Given the description of an element on the screen output the (x, y) to click on. 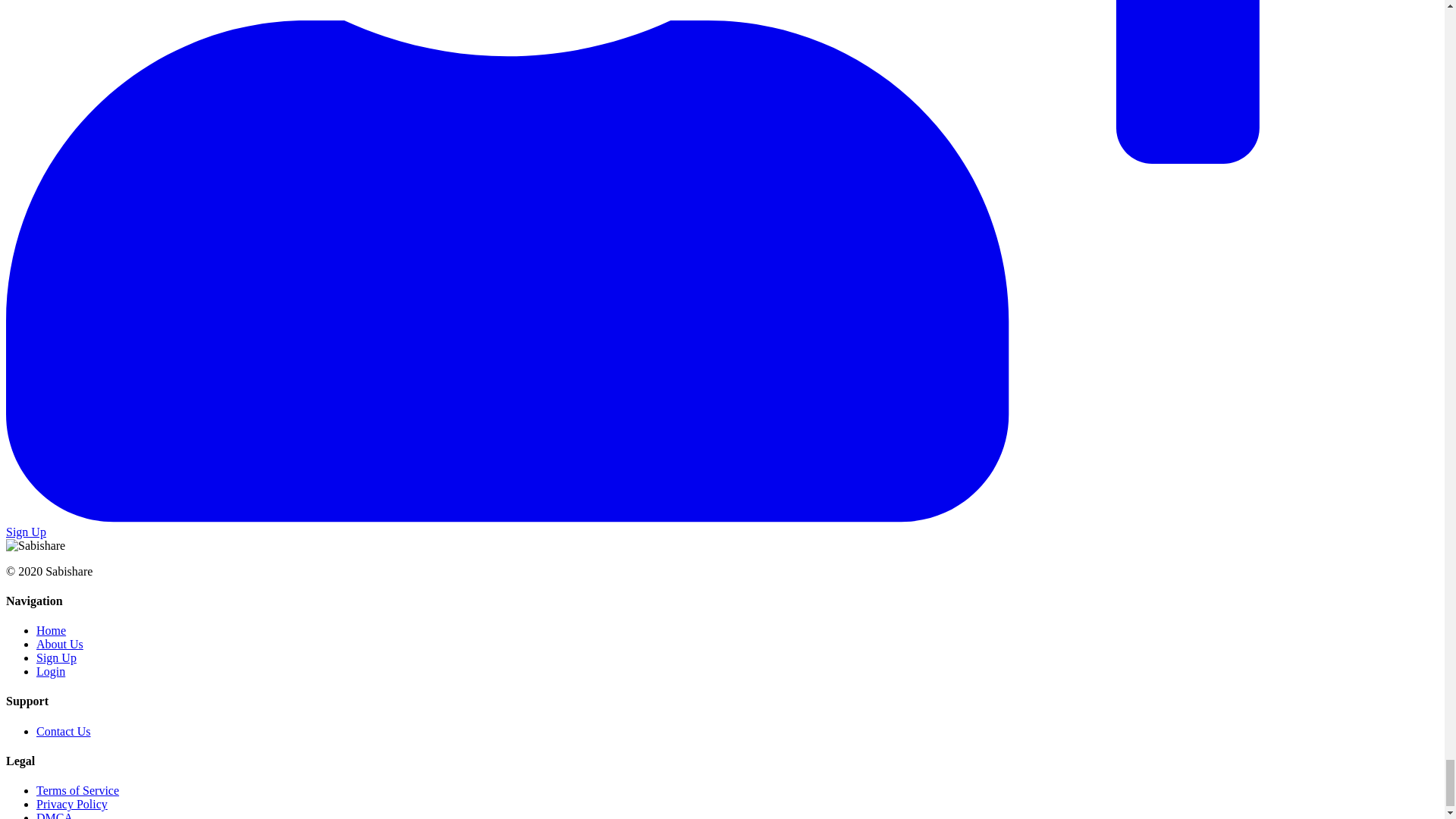
Terms of Service (77, 789)
Sign Up (56, 657)
Contact Us (63, 730)
Login (50, 671)
Home (50, 630)
About Us (59, 644)
Privacy Policy (71, 803)
